Given the description of an element on the screen output the (x, y) to click on. 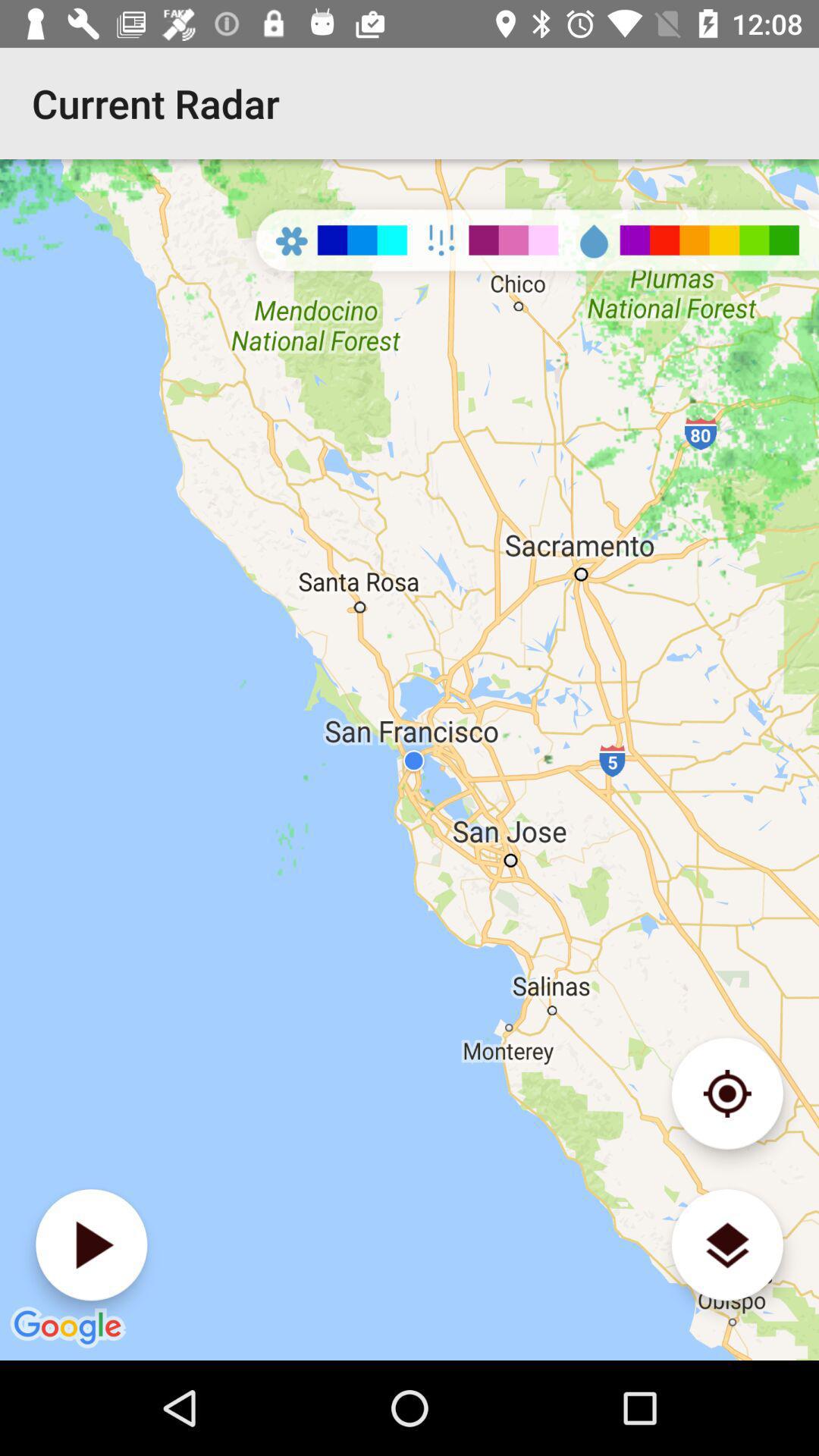
play (91, 1244)
